Given the description of an element on the screen output the (x, y) to click on. 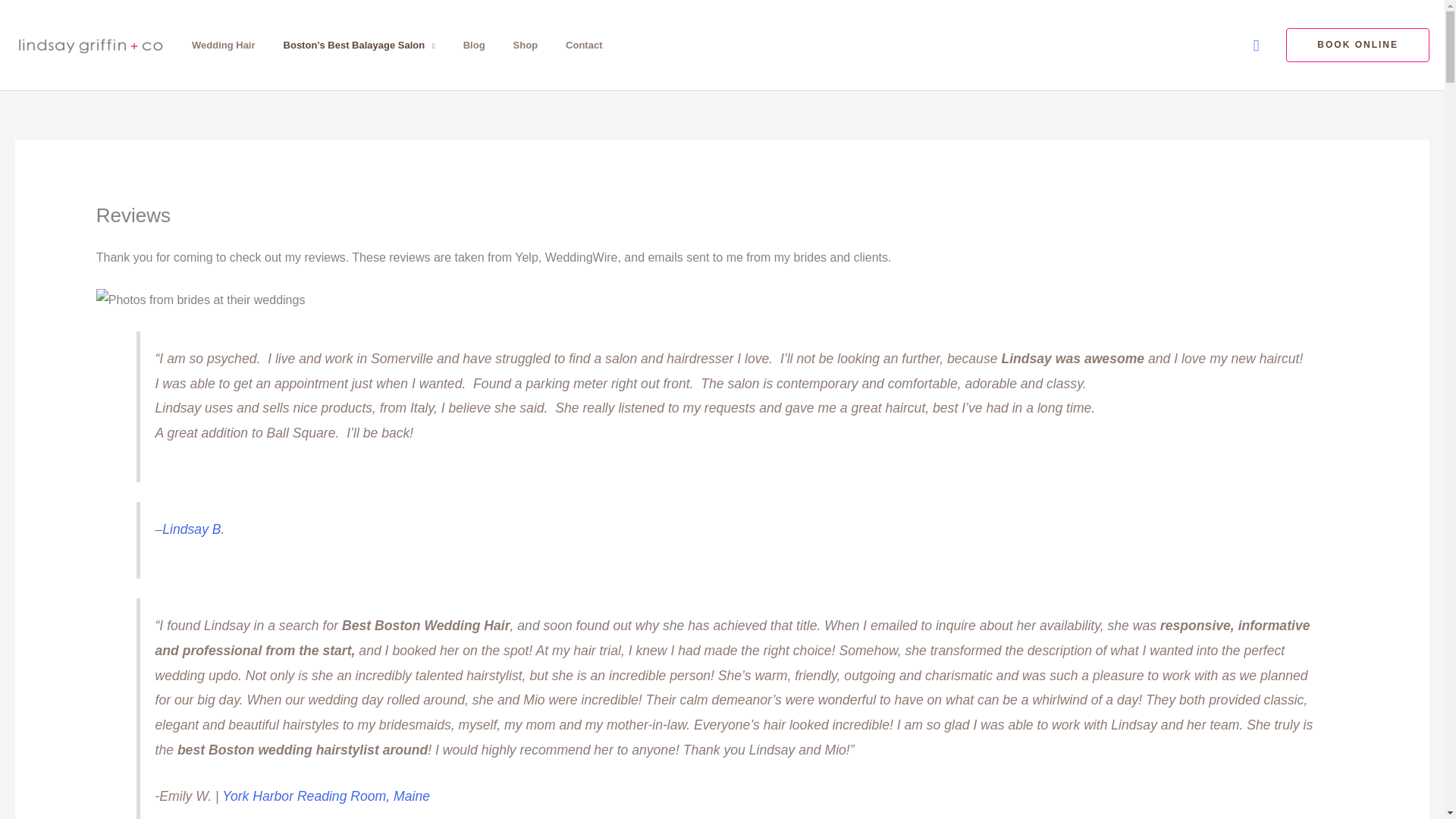
BOOK ONLINE (1357, 44)
York Harbor Reading Room (325, 795)
Wedding Hair (227, 44)
York Harbor Reading Room, Maine (325, 795)
Shop (529, 44)
Yelp (192, 529)
Contact (588, 44)
Blog (477, 44)
Lindsay B. (192, 529)
